Given the description of an element on the screen output the (x, y) to click on. 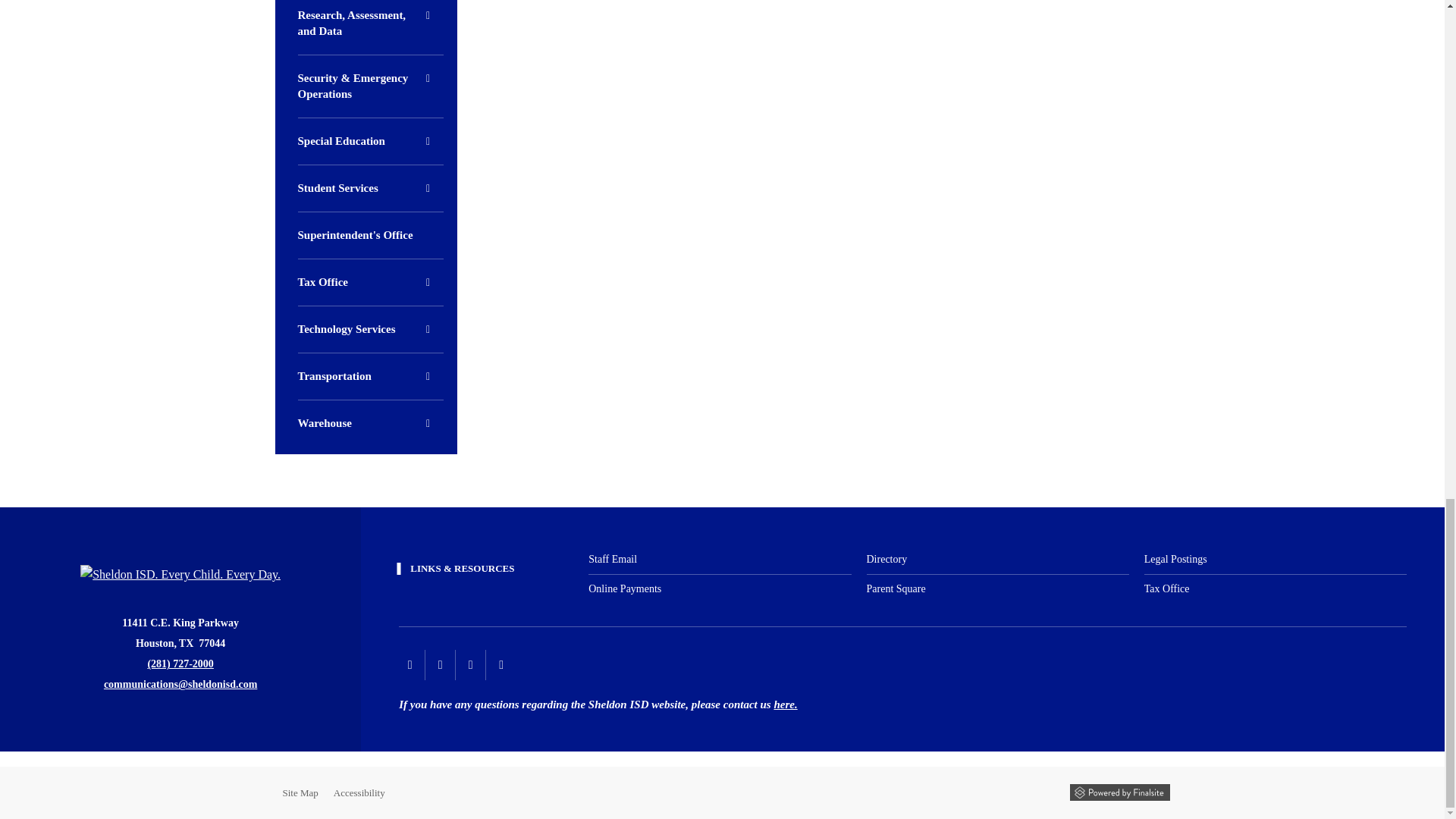
Powered by Finalsite opens in a new window (1118, 791)
Email (180, 684)
